Given the description of an element on the screen output the (x, y) to click on. 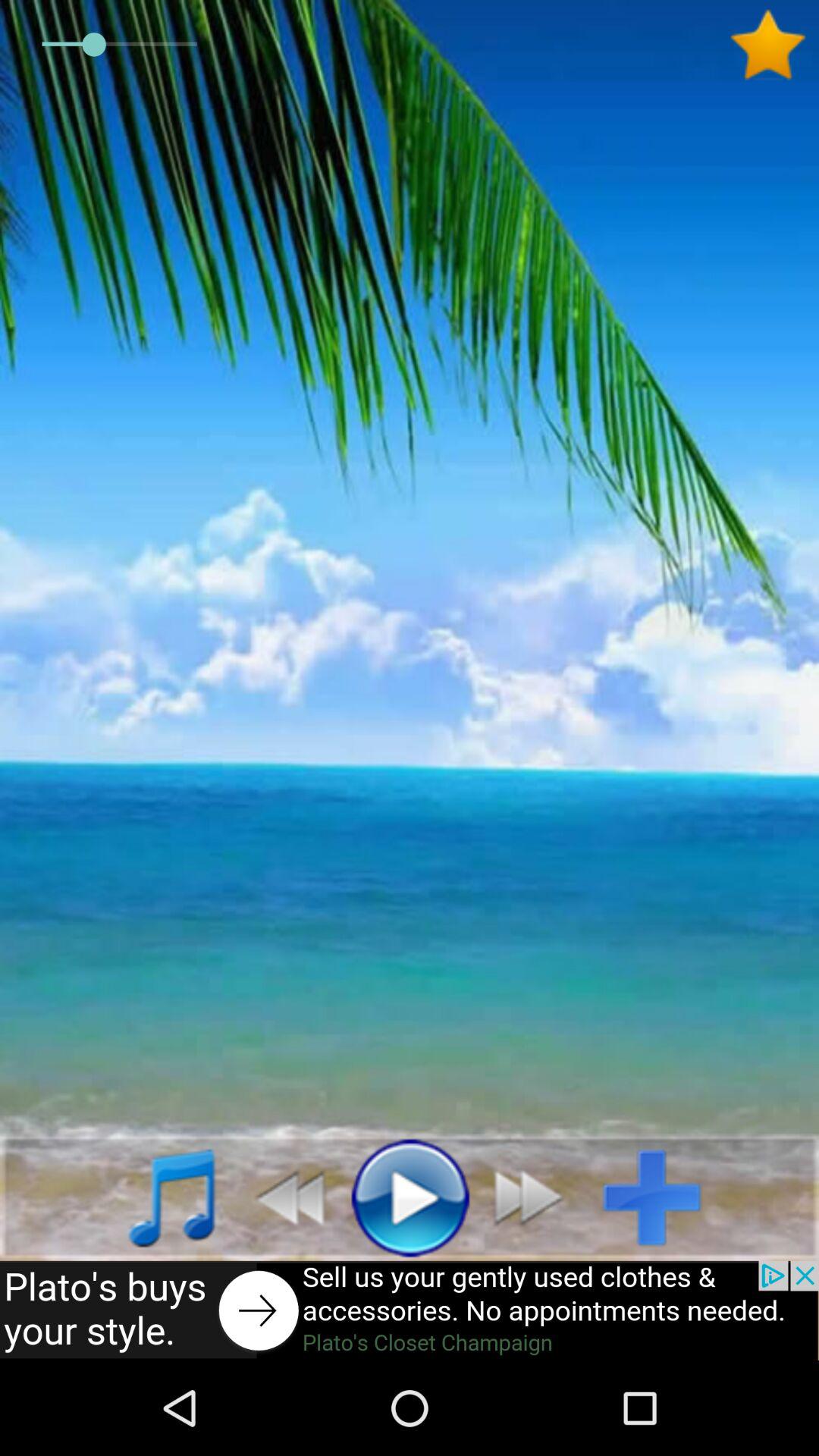
this would open an add if you clicked it (409, 1310)
